Given the description of an element on the screen output the (x, y) to click on. 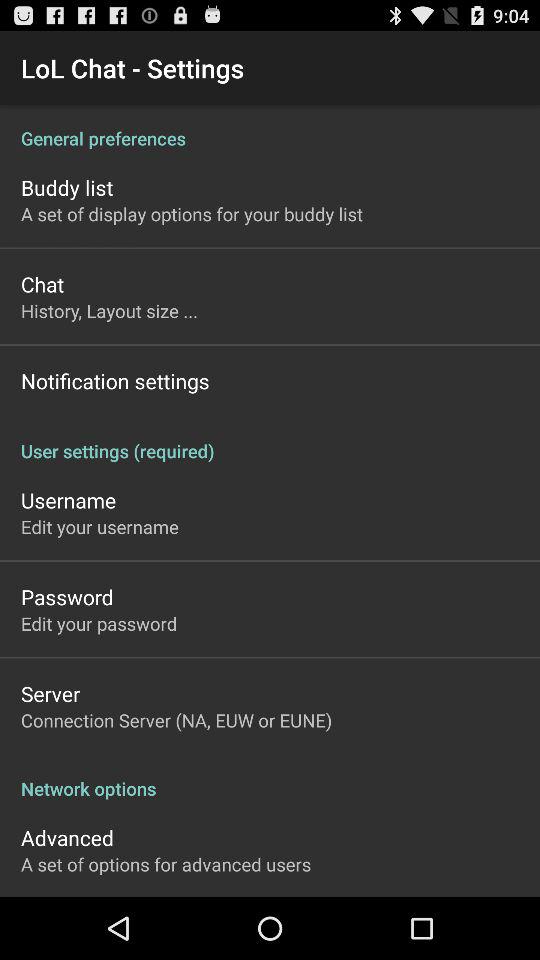
launch the item above the username (270, 440)
